Given the description of an element on the screen output the (x, y) to click on. 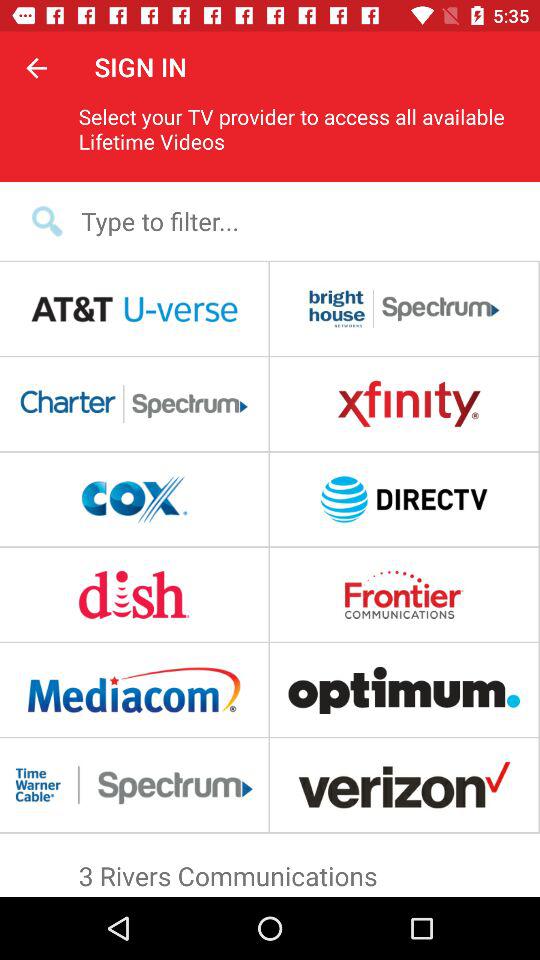
turn off 3 rivers communications item (270, 871)
